Given the description of an element on the screen output the (x, y) to click on. 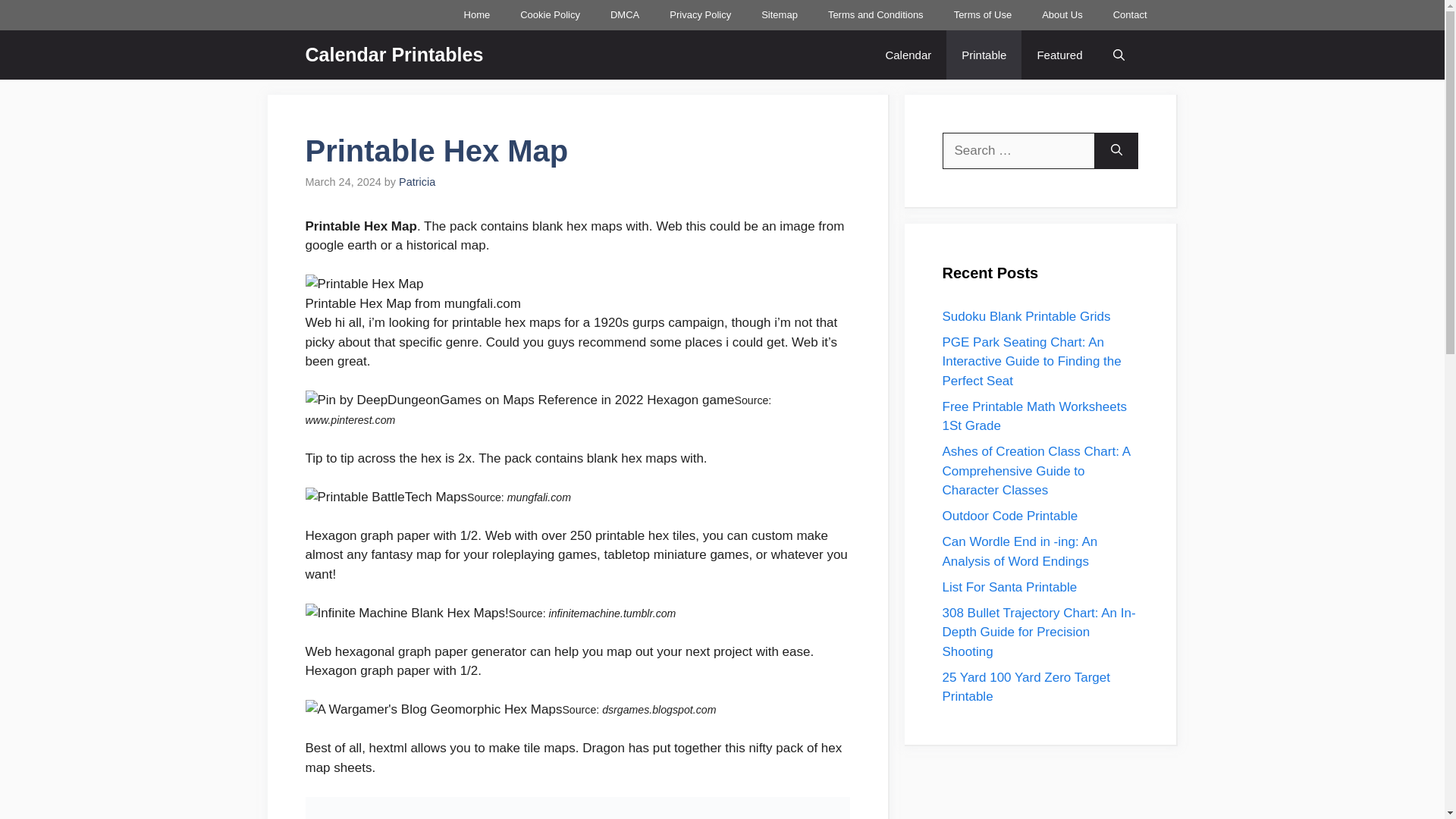
25 Yard 100 Yard Zero Target Printable (1025, 687)
Sudoku Blank Printable Grids (1025, 316)
Search for: (1018, 150)
Featured (1059, 54)
Sitemap (778, 15)
Calendar (907, 54)
Home (476, 15)
DMCA (624, 15)
Printable Hex Map (363, 284)
List For Santa Printable (1009, 586)
Terms of Use (983, 15)
Outdoor Code Printable (1009, 515)
Free Printable Math Worksheets 1St Grade (1033, 415)
About Us (1061, 15)
